Given the description of an element on the screen output the (x, y) to click on. 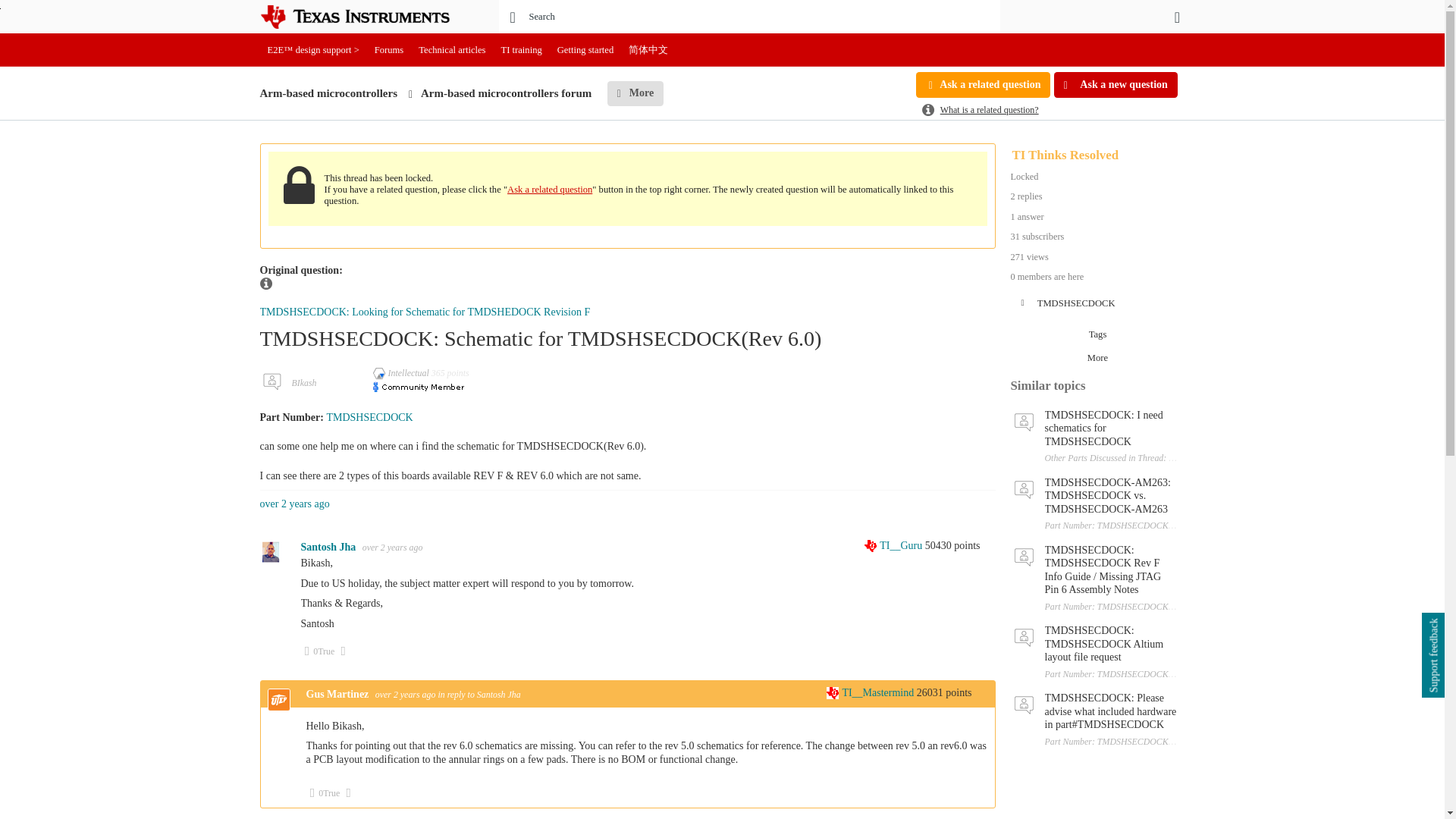
TI training (521, 49)
Click here for explanation of levels (894, 545)
Link to Tool Folder (369, 417)
Join or sign in (1177, 17)
Click here for explanation of levels (871, 692)
Click here for explanation of levels (401, 372)
Technical articles (451, 49)
Home (365, 16)
Getting started (585, 49)
Forums (389, 49)
User (1177, 17)
